Given the description of an element on the screen output the (x, y) to click on. 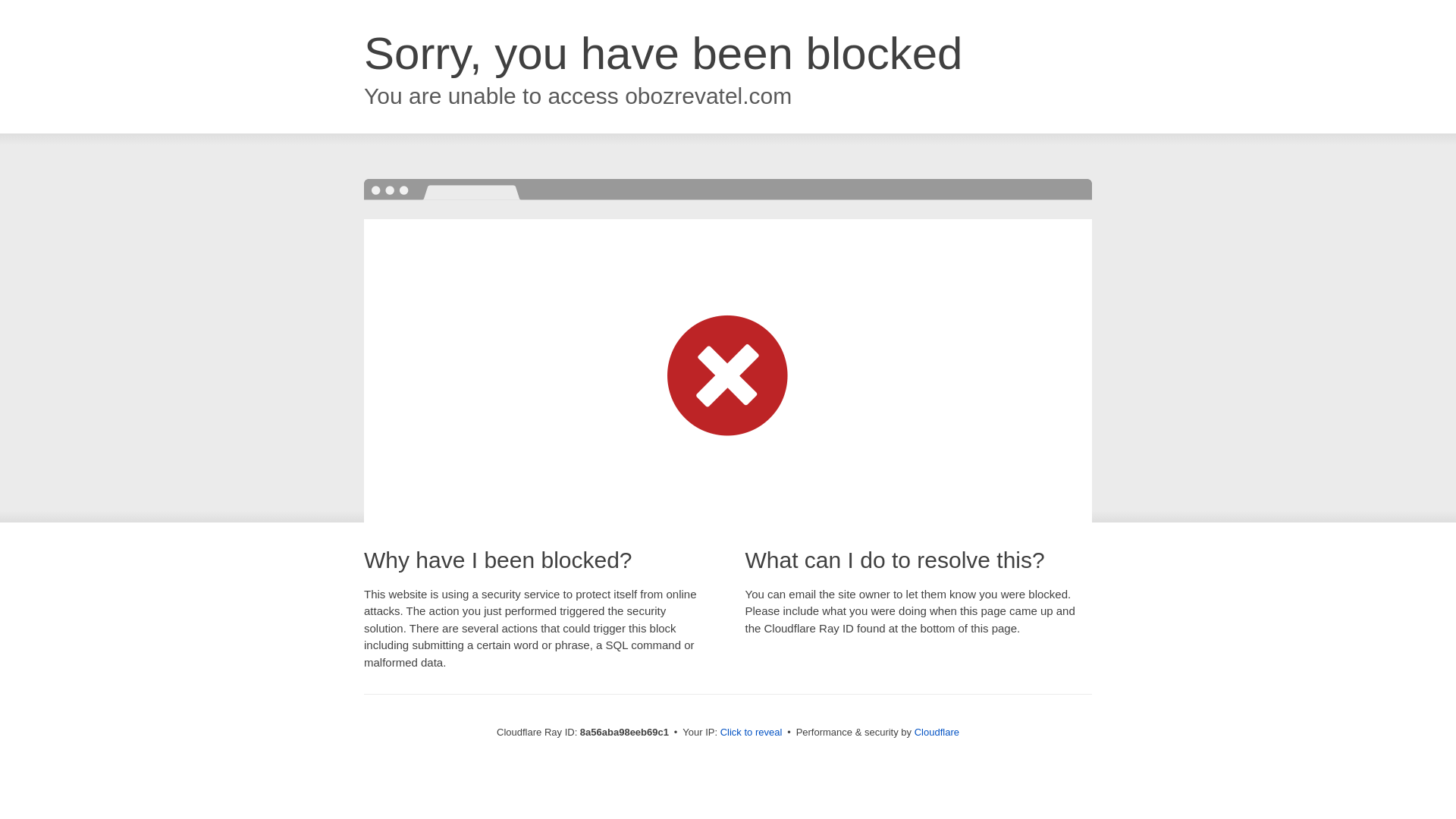
Cloudflare (936, 731)
Click to reveal (751, 732)
